Given the description of an element on the screen output the (x, y) to click on. 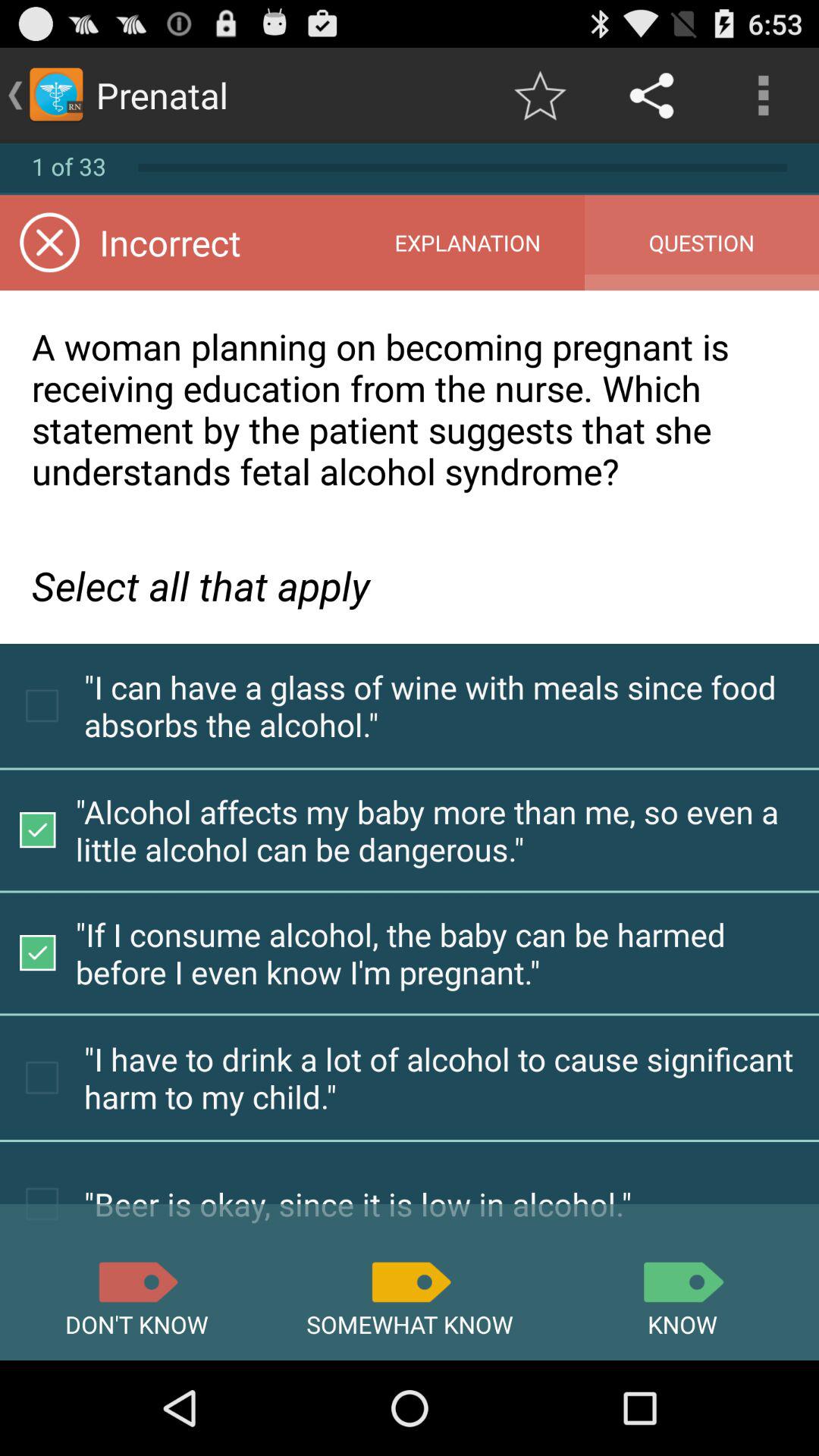
launch question button (701, 242)
